Given the description of an element on the screen output the (x, y) to click on. 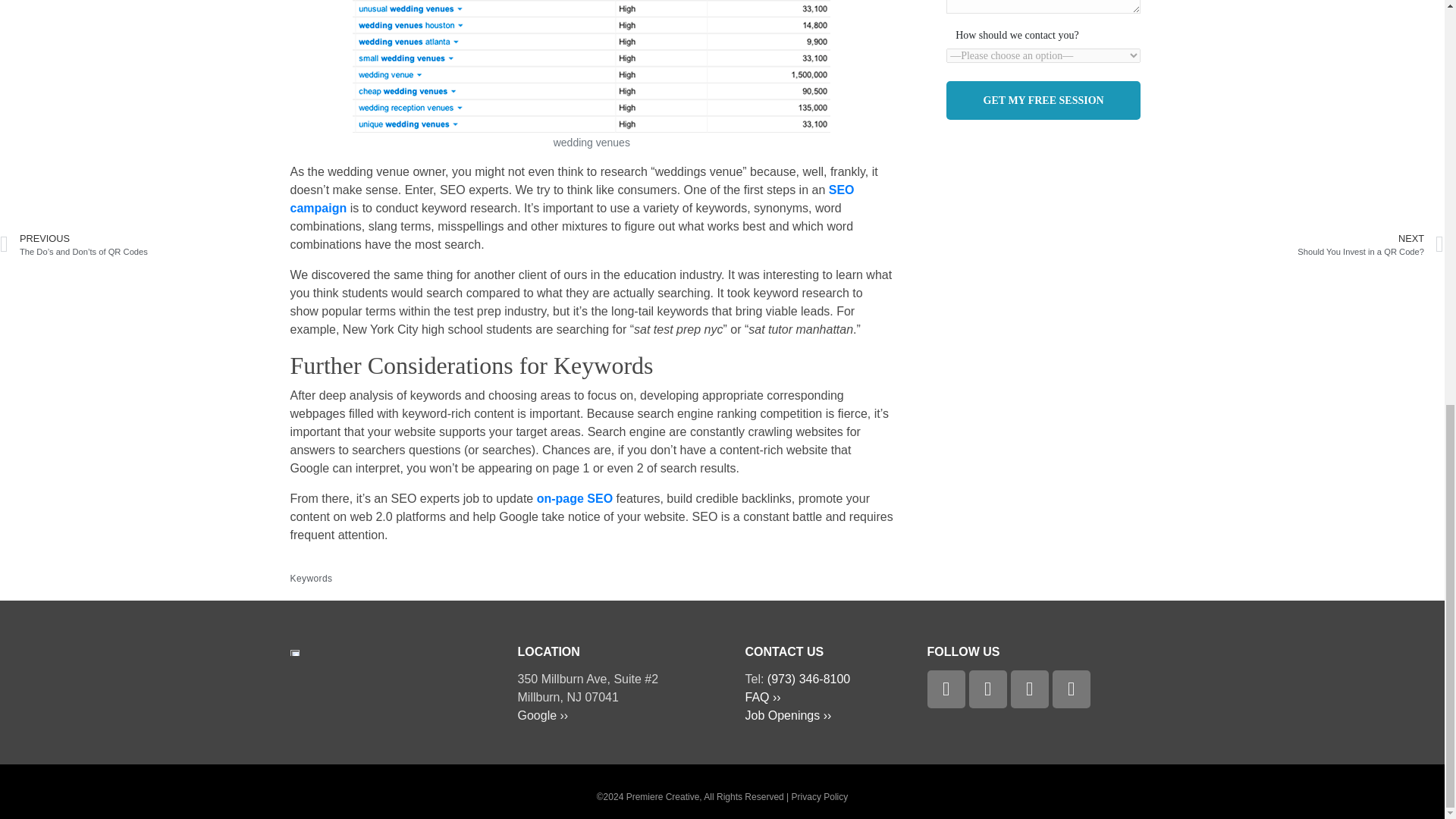
wedding-venues (590, 66)
SEO campaign (571, 198)
on-page SEO (574, 498)
Get My Free Session (1043, 100)
